Given the description of an element on the screen output the (x, y) to click on. 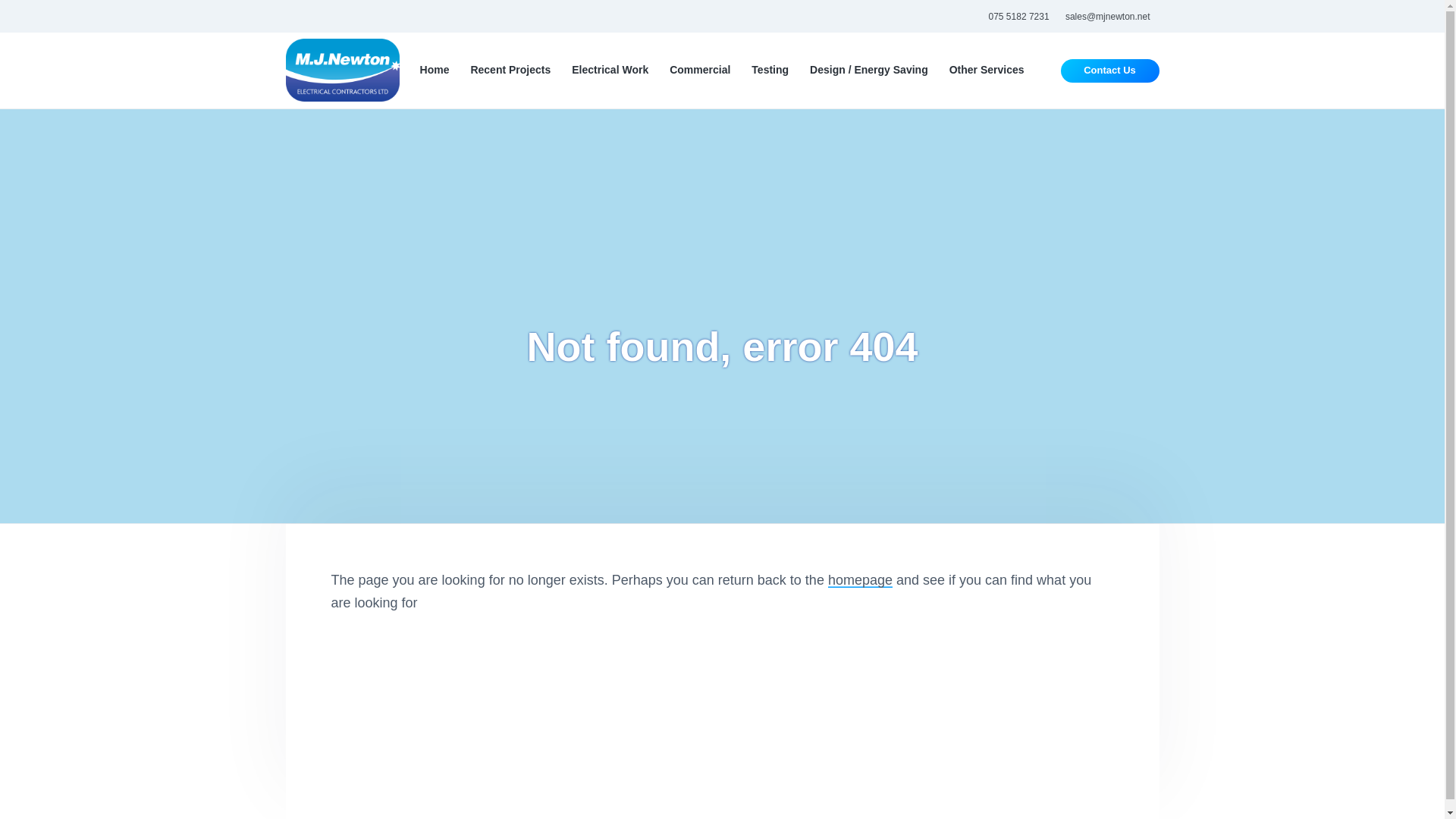
Home (434, 69)
Recent Projects (510, 69)
Electrical Work (609, 69)
Commercial (699, 69)
Testing (770, 69)
Contact Us (1109, 70)
Other Services (987, 69)
homepage (860, 580)
